Given the description of an element on the screen output the (x, y) to click on. 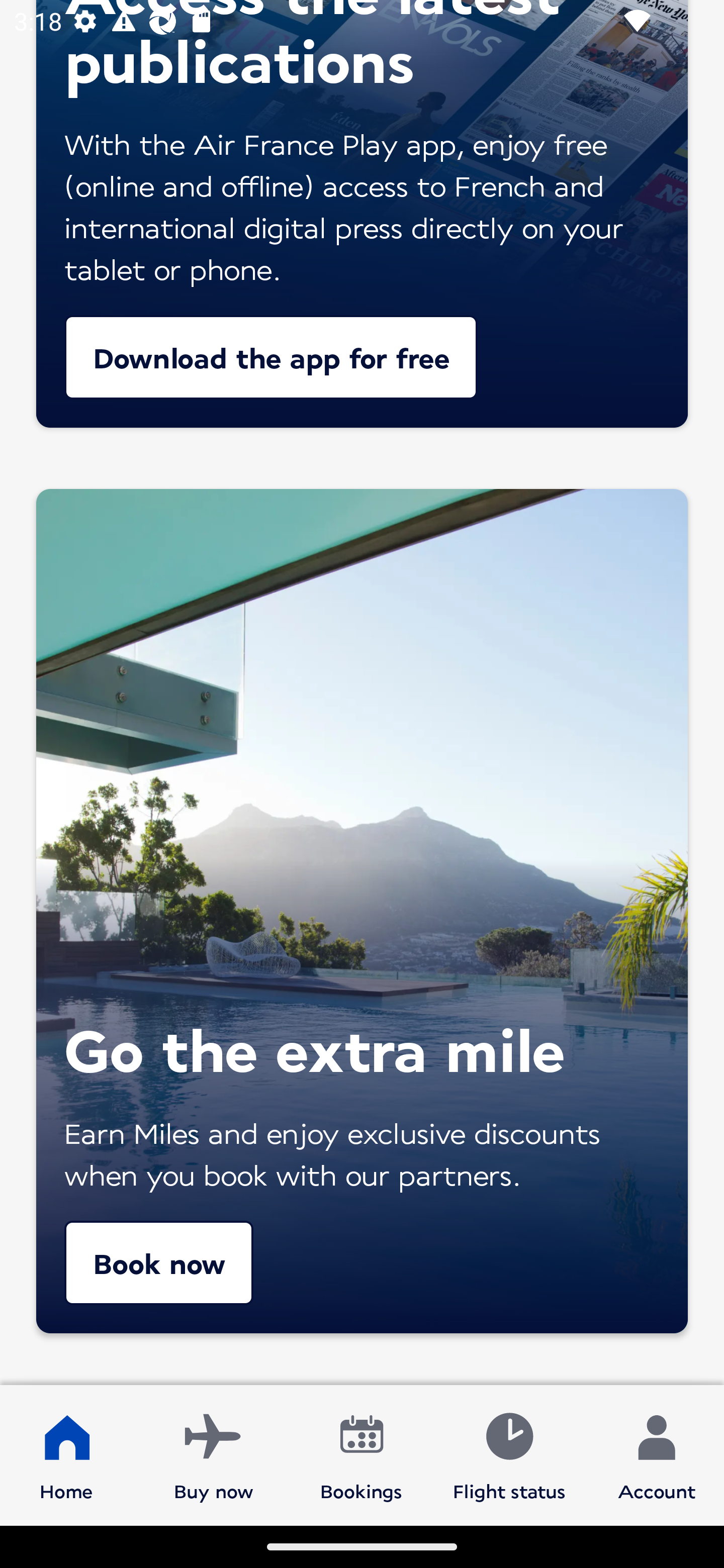
Buy now (213, 1454)
Bookings (361, 1454)
Flight status (509, 1454)
Account (657, 1454)
